Given the description of an element on the screen output the (x, y) to click on. 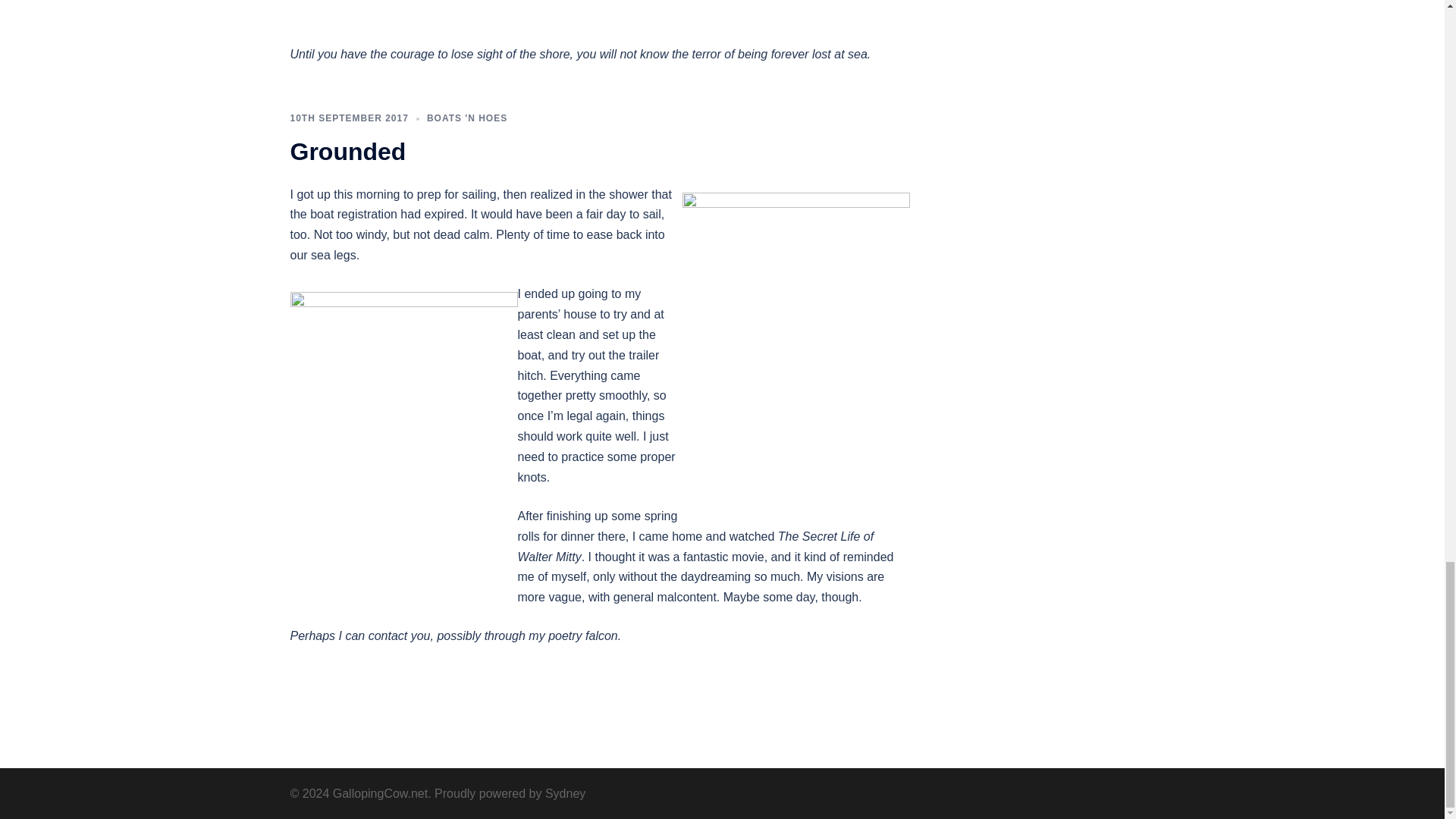
Grounded (347, 151)
Sydney (564, 793)
BOATS 'N HOES (466, 118)
10TH SEPTEMBER 2017 (348, 118)
